Given the description of an element on the screen output the (x, y) to click on. 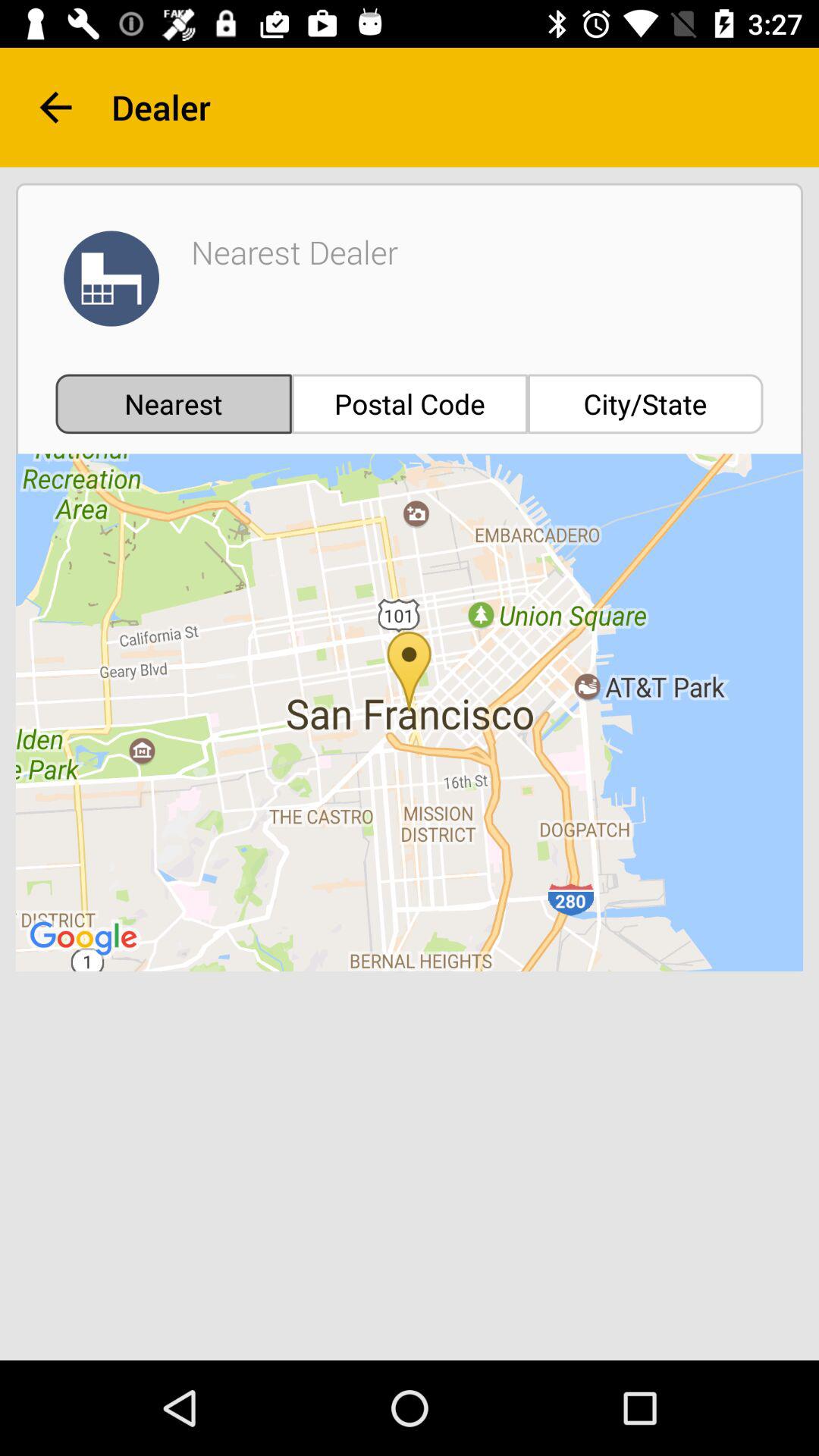
launch the postal code icon (409, 403)
